Given the description of an element on the screen output the (x, y) to click on. 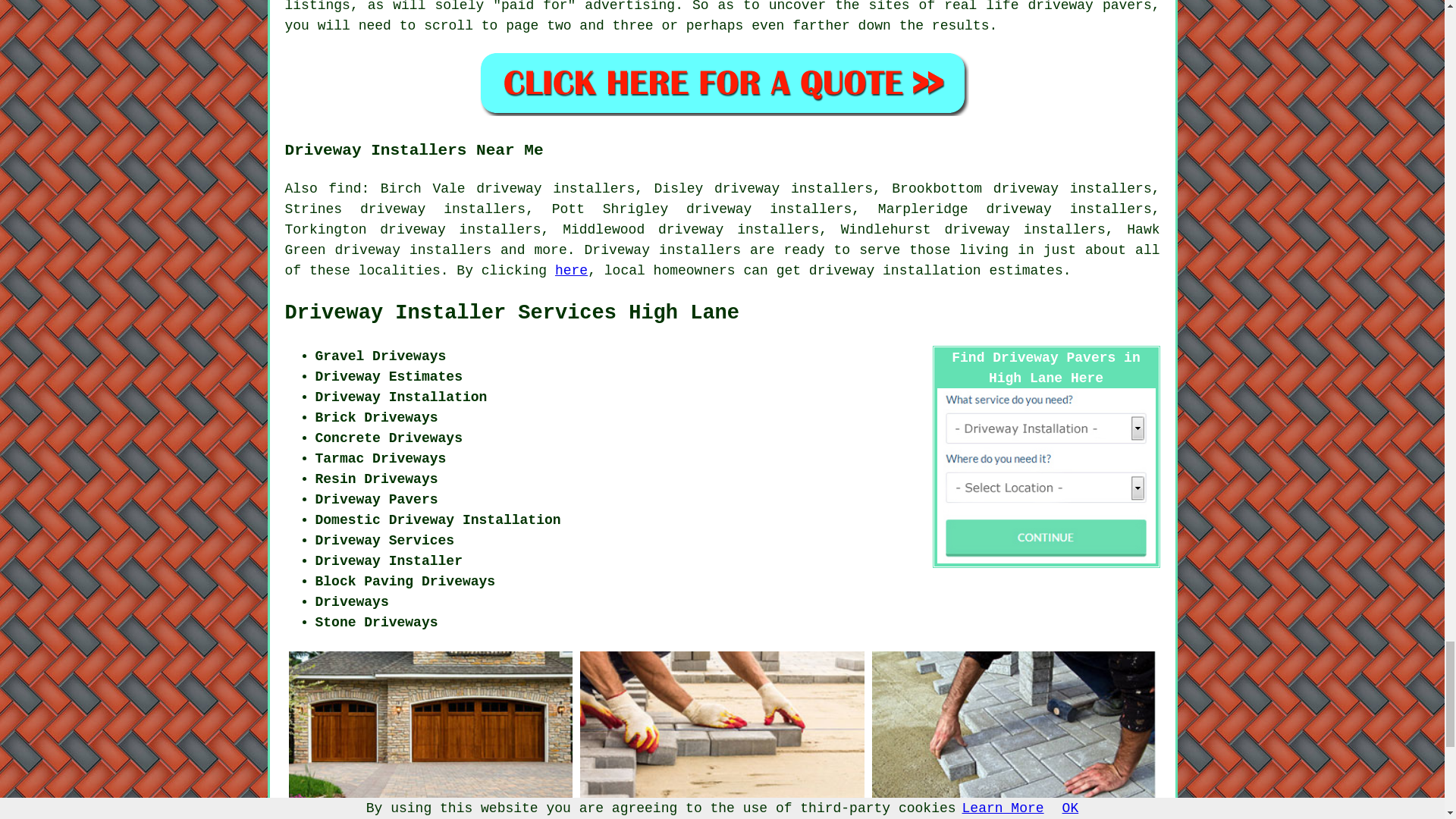
Driveway Pavers High Lane UK (1014, 735)
Contact Driveway Pavers in High Lane (1046, 475)
Driveway Contractors Near Me High Lane (721, 735)
Driveways High Lane (430, 735)
